Given the description of an element on the screen output the (x, y) to click on. 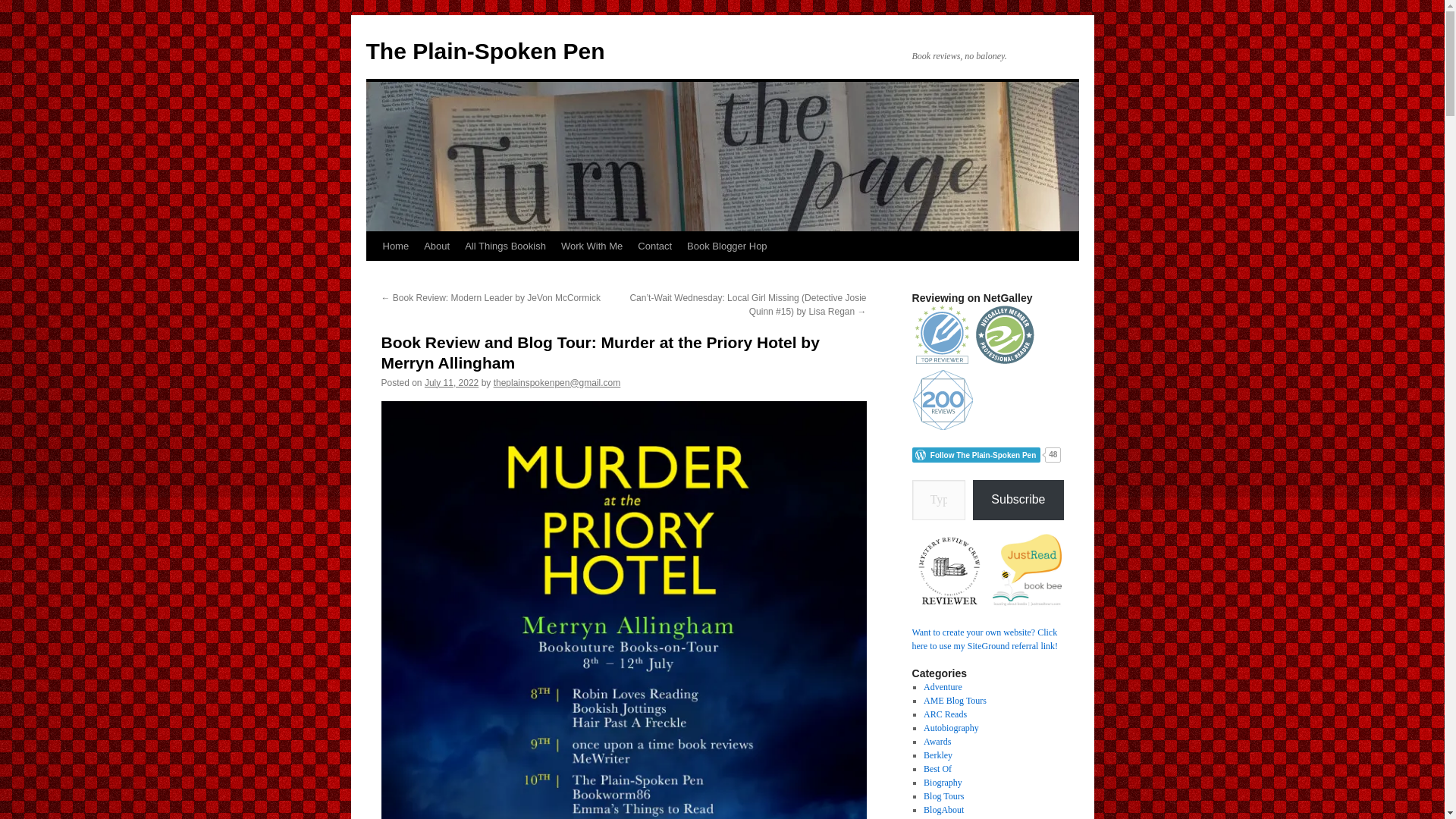
Contact (654, 246)
5:57 am (452, 382)
The Plain-Spoken Pen (484, 50)
Reviews Published (941, 334)
Professional Reader (1005, 334)
Home (395, 246)
Book Blogger Hop (726, 246)
Work With Me (591, 246)
All Things Bookish (505, 246)
July 11, 2022 (452, 382)
50 Book Reviews (941, 399)
Please fill in this field. (938, 499)
Follow Button (986, 454)
About (436, 246)
